Given the description of an element on the screen output the (x, y) to click on. 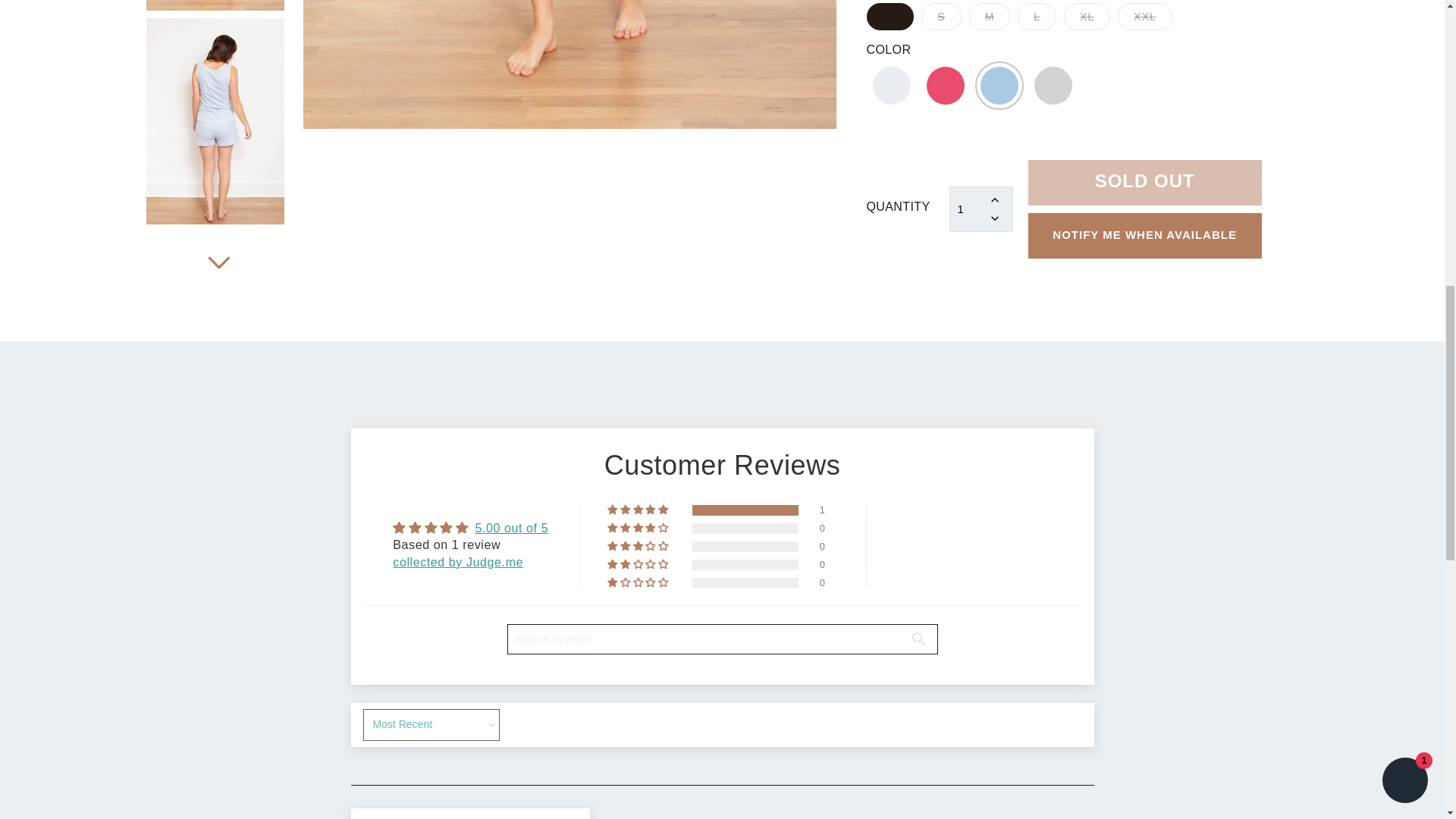
1 (980, 34)
